Given the description of an element on the screen output the (x, y) to click on. 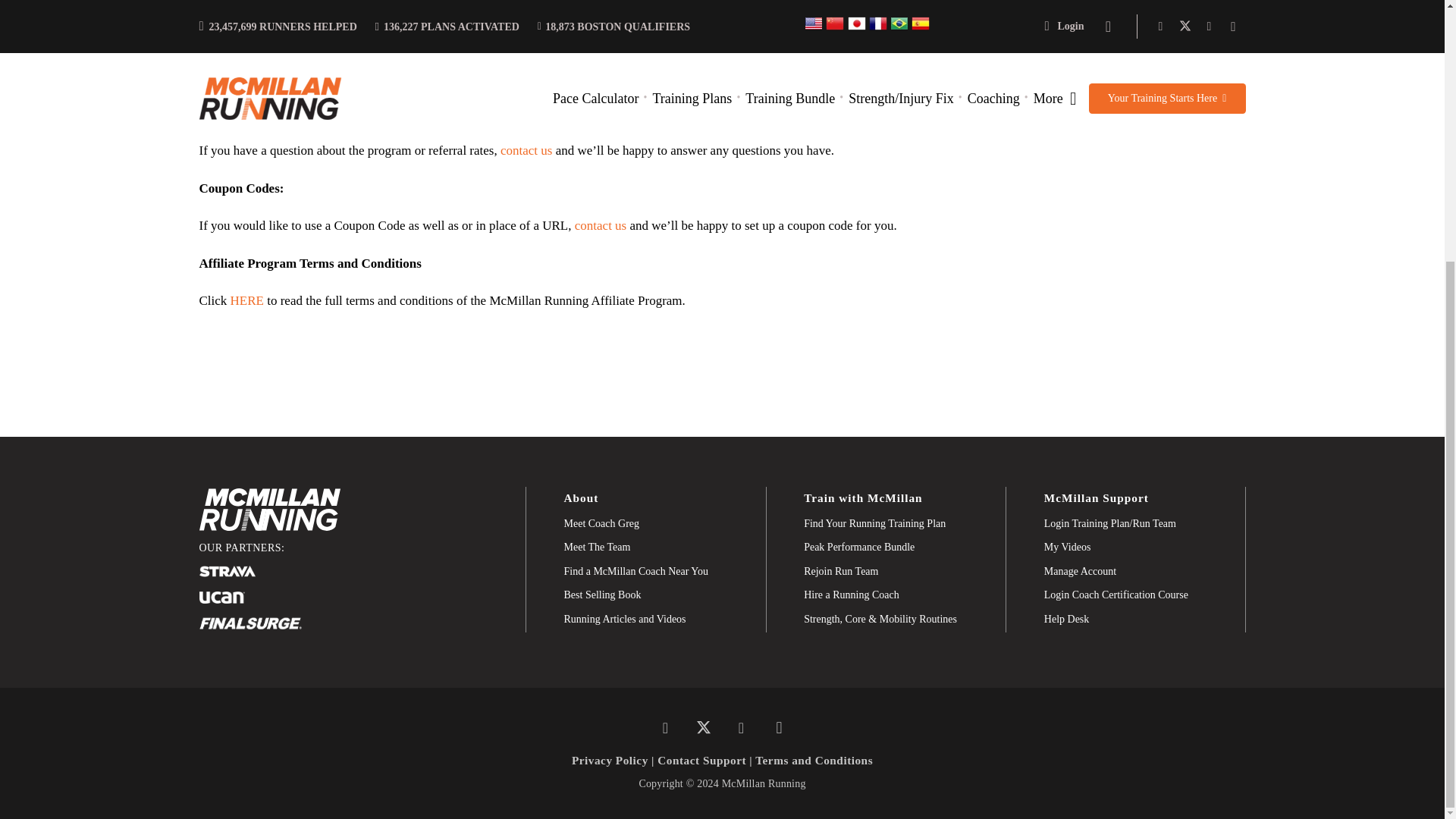
Twitter (703, 727)
contact us (600, 225)
HERE (246, 300)
Instagram (778, 727)
Meet The Team (597, 547)
free (228, 113)
YouTube (741, 727)
Find a McMillan Coach Near You (636, 571)
Best Selling Book (603, 595)
Facebook (665, 727)
